Given the description of an element on the screen output the (x, y) to click on. 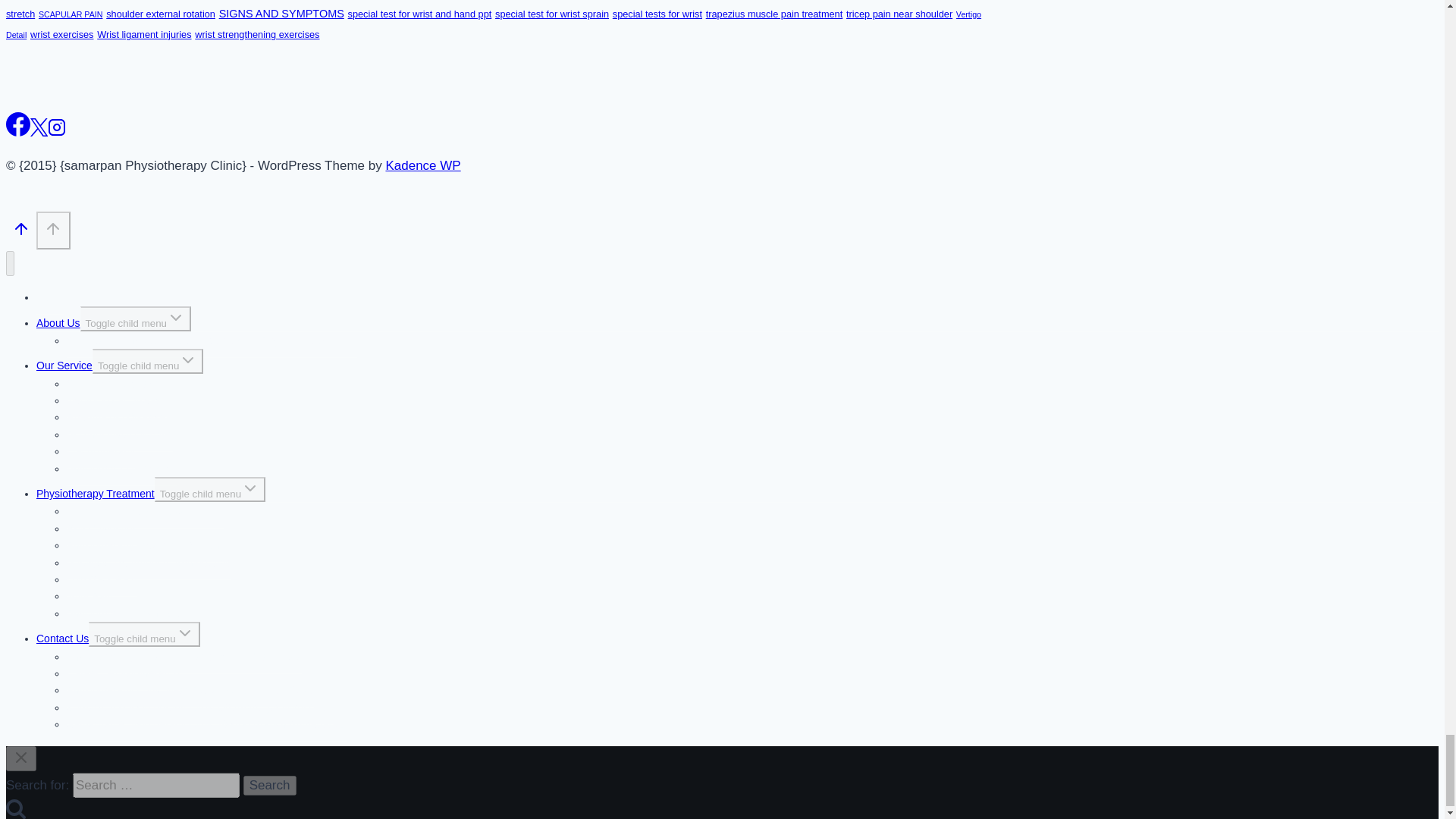
Search (270, 785)
Scroll to top (52, 229)
Scroll to top (20, 231)
Search (270, 785)
